Given the description of an element on the screen output the (x, y) to click on. 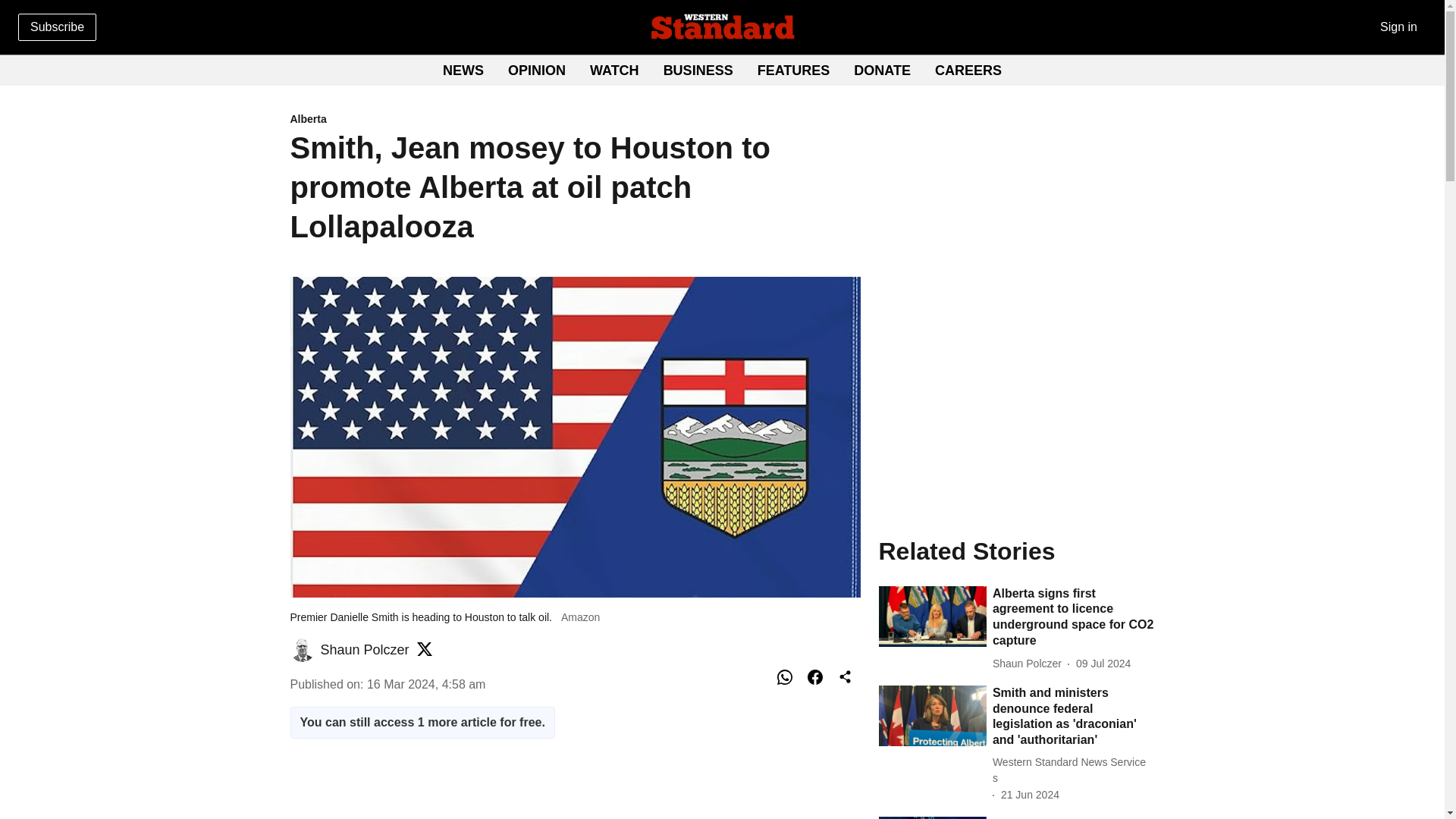
2024-07-08 18:30 (1103, 663)
FEATURES (721, 70)
BUSINESS (793, 70)
3rd party ad content (698, 70)
Shaun Polczer (1015, 401)
DONATE (364, 649)
Alberta (882, 70)
WATCH (574, 119)
CAREERS (614, 70)
3rd party ad content (967, 70)
2024-06-20 21:25 (574, 794)
